Given the description of an element on the screen output the (x, y) to click on. 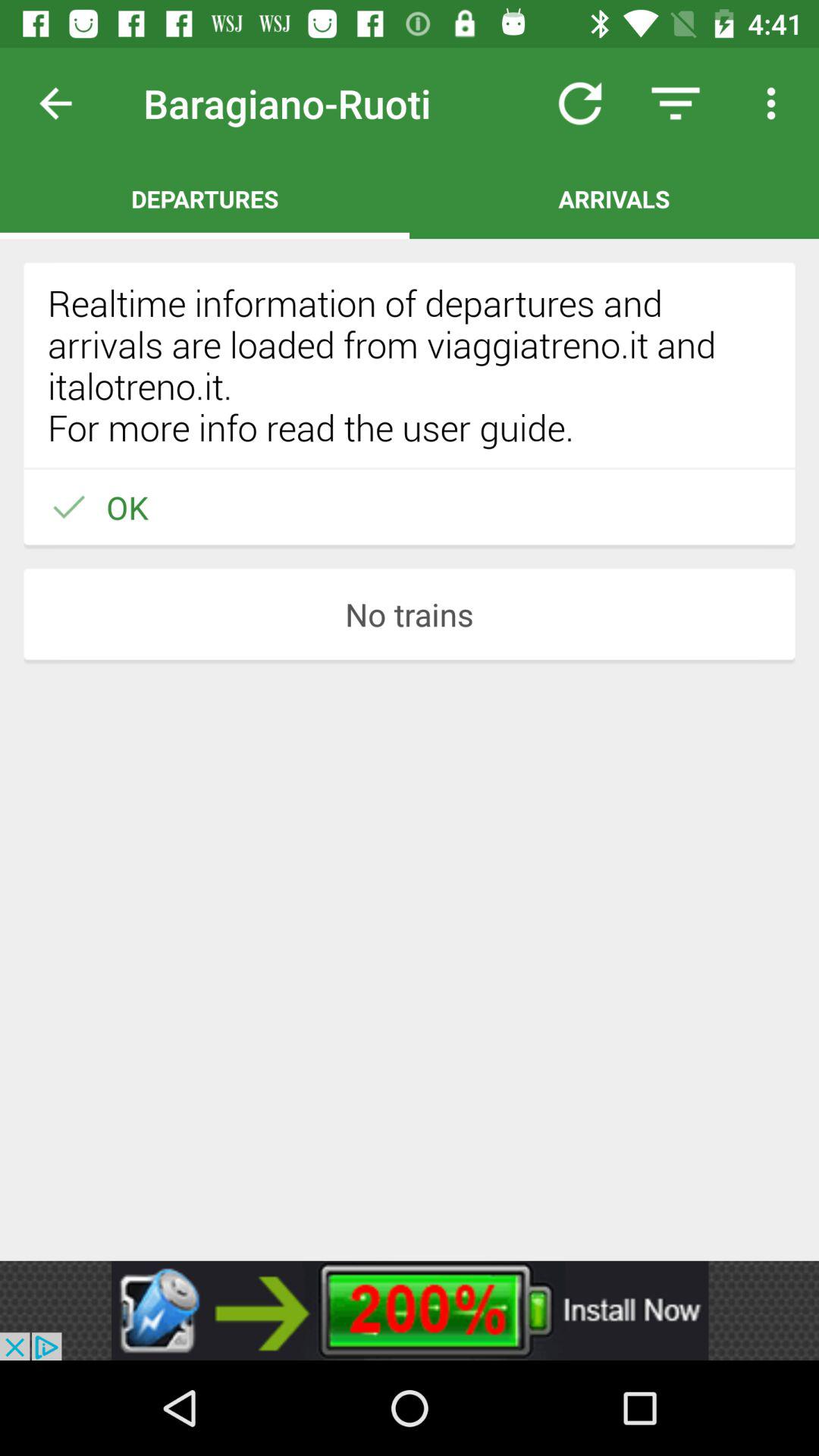
advertisements (409, 1310)
